Given the description of an element on the screen output the (x, y) to click on. 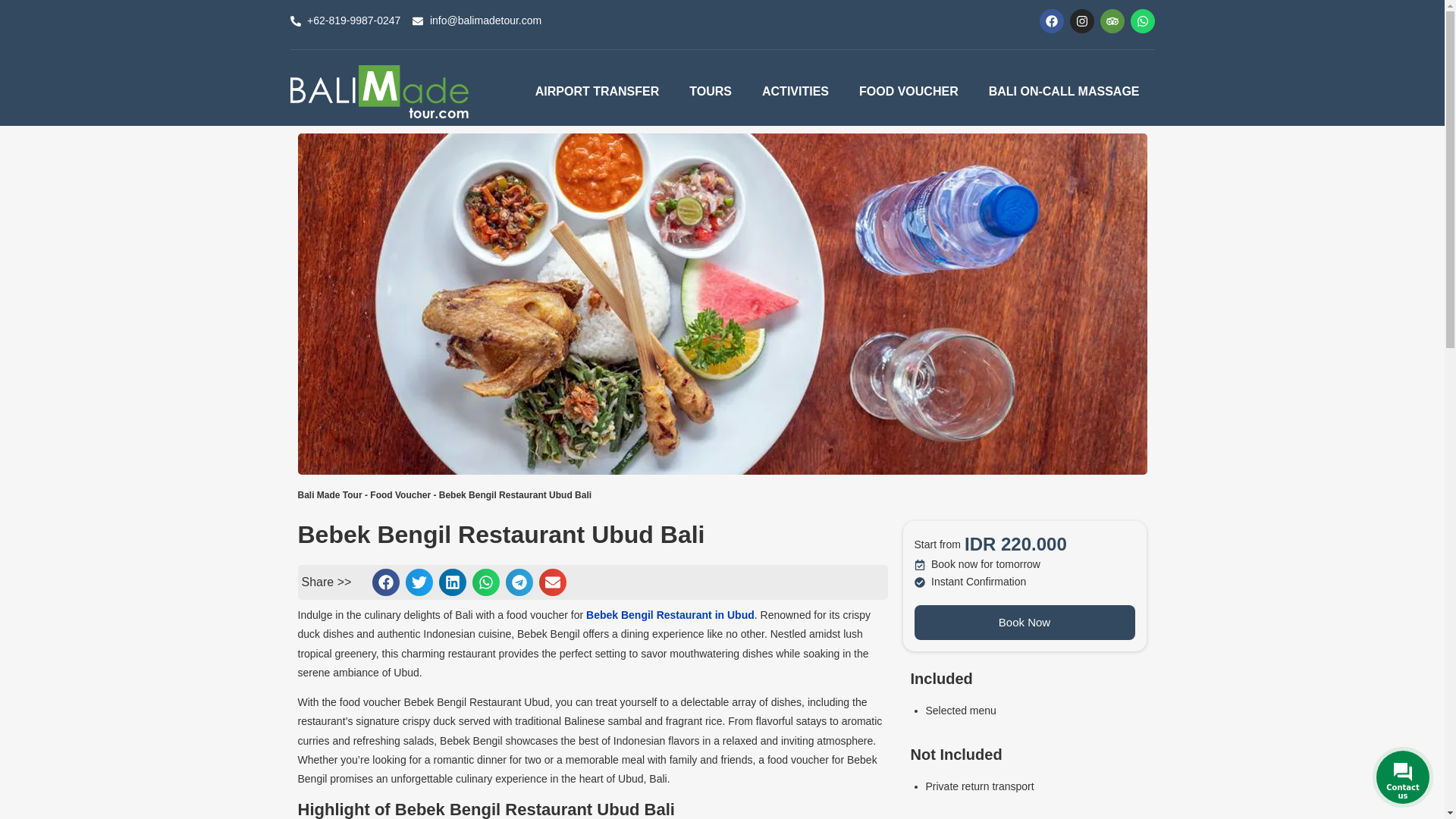
AIRPORT TRANSFER (597, 91)
Book Now (1024, 622)
TOURS (710, 91)
Food Voucher (399, 494)
Bali Made Tour (329, 494)
FOOD VOUCHER (909, 91)
BALI ON-CALL MASSAGE (1064, 91)
ACTIVITIES (795, 91)
Bebek Bengil Restaurant in Ubud (670, 614)
